Given the description of an element on the screen output the (x, y) to click on. 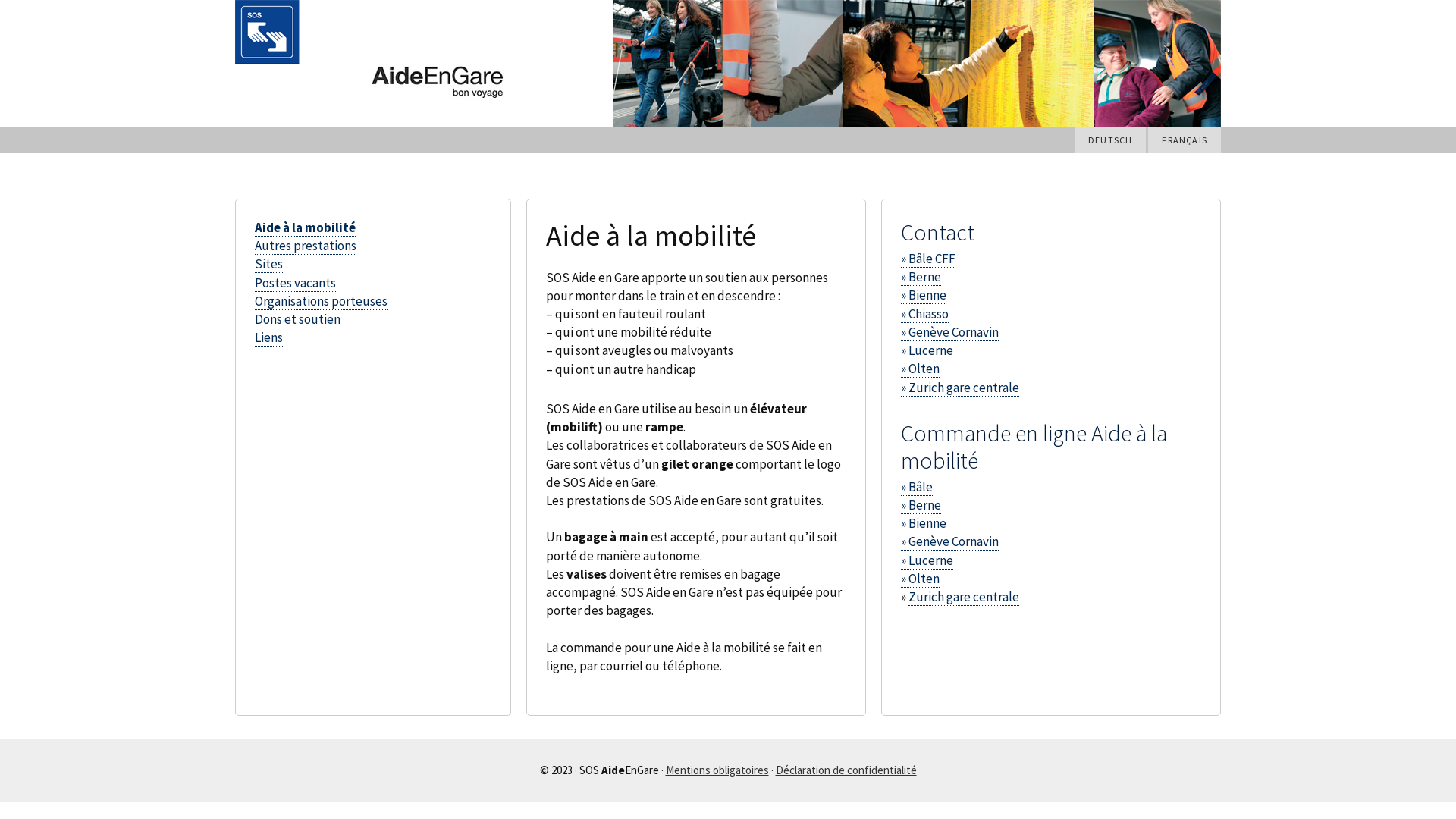
Sites Element type: text (268, 264)
Organisations porteuses Element type: text (320, 301)
Dons et soutien Element type: text (297, 319)
Liens Element type: text (268, 337)
Postes vacants Element type: text (294, 282)
Autres prestations Element type: text (305, 245)
DEUTSCH Element type: text (1109, 140)
Zurich gare centrale Element type: text (963, 596)
Mentions obligatoires Element type: text (716, 769)
